Given the description of an element on the screen output the (x, y) to click on. 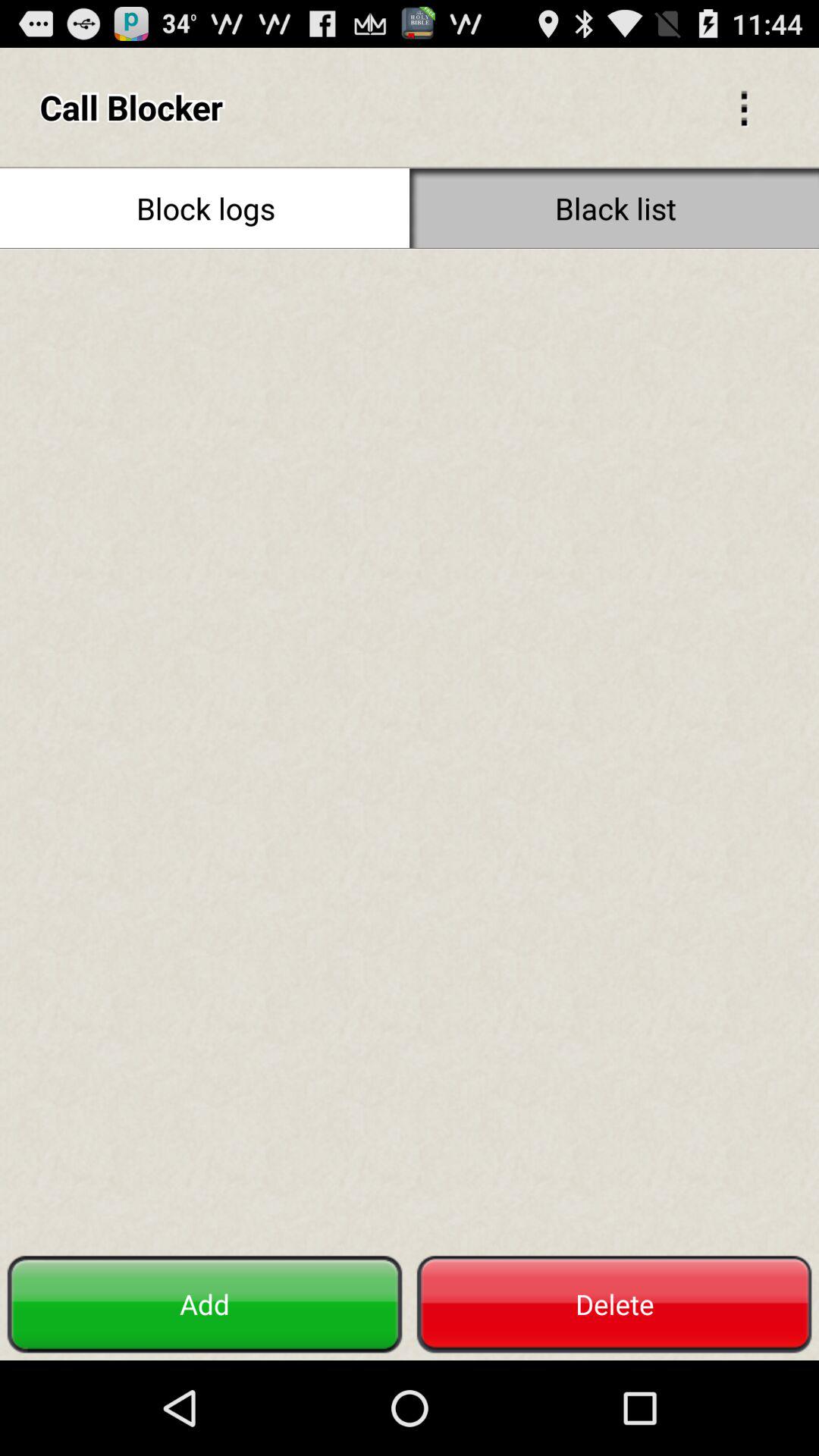
open add (204, 1304)
